Given the description of an element on the screen output the (x, y) to click on. 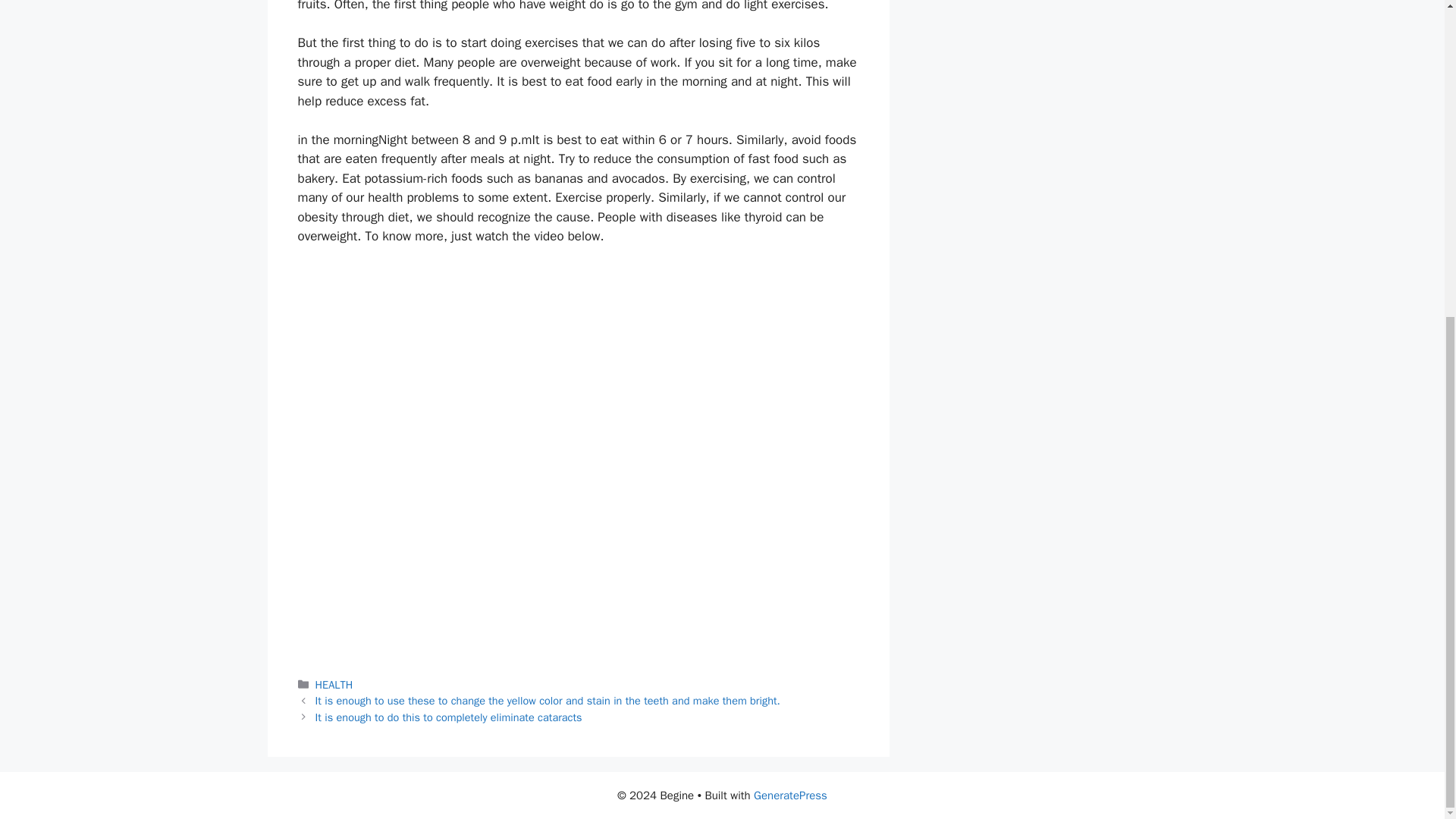
GeneratePress (790, 795)
HEALTH (334, 684)
It is enough to do this to completely eliminate cataracts (448, 716)
